Given the description of an element on the screen output the (x, y) to click on. 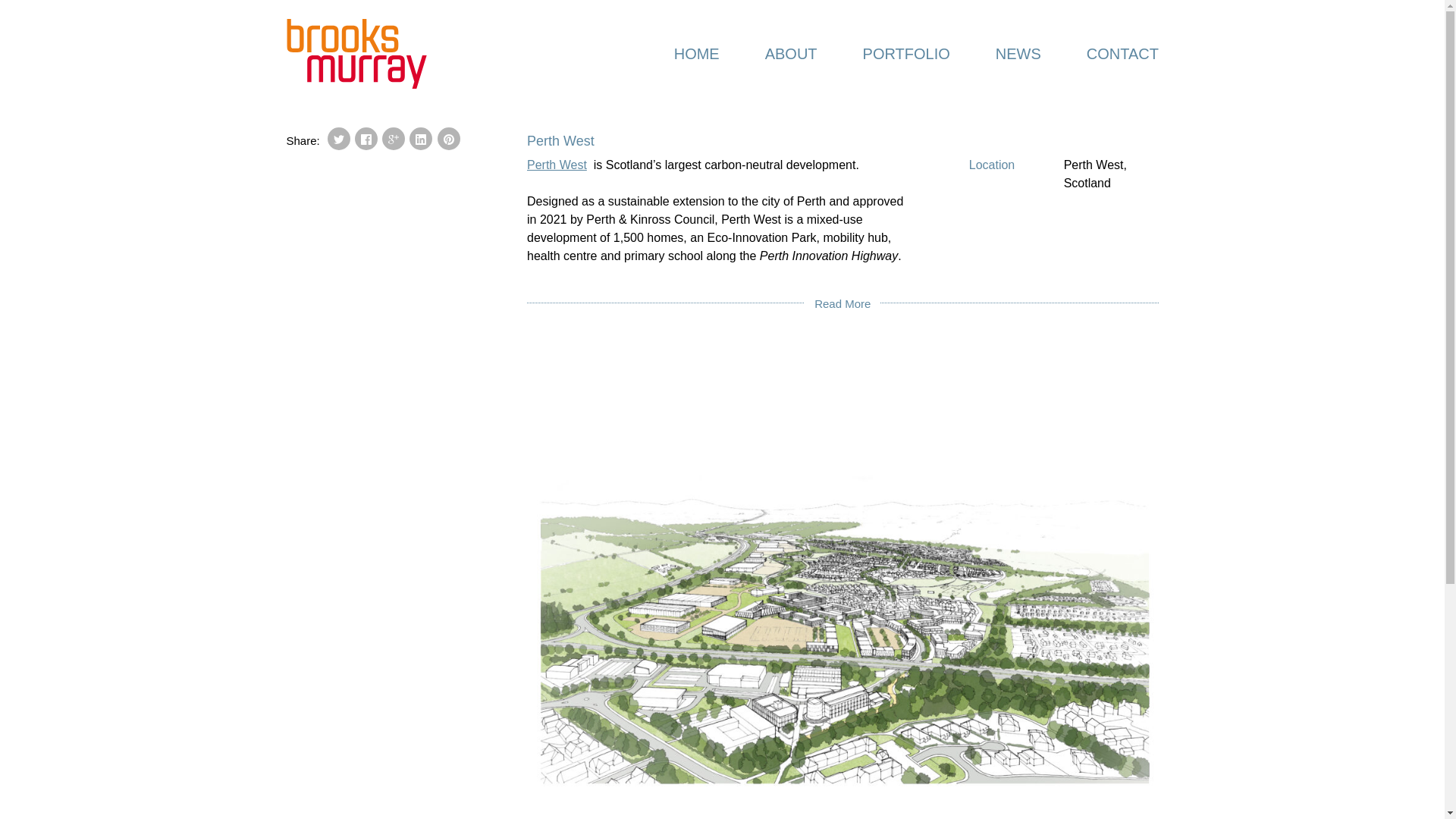
NEWS (1017, 53)
CONTACT (1109, 53)
Social (338, 139)
Social (393, 139)
Social (420, 139)
HOME (695, 53)
Social (366, 139)
PORTFOLIO (906, 53)
ABOUT (790, 53)
Social (449, 139)
